Given the description of an element on the screen output the (x, y) to click on. 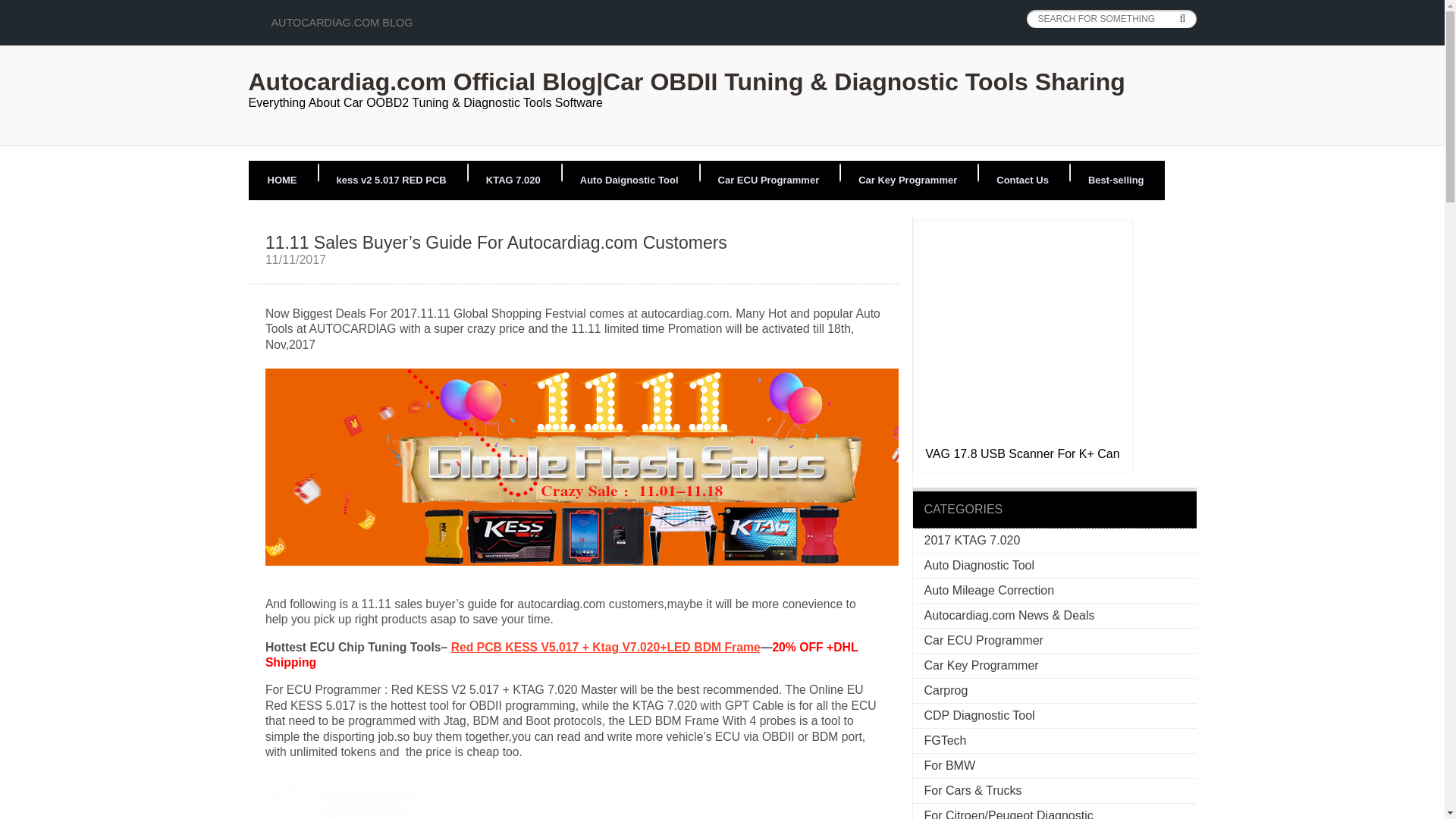
HOME (282, 179)
kess v2 5.017 RED PCB (390, 179)
Auto Daignostic Tool (629, 179)
AUTOCARDIAG.COM BLOG (341, 22)
CDP Diagnostic Tool (978, 715)
Car ECU Programmer (982, 640)
Carprog (945, 689)
Car Key Programmer (980, 665)
Car ECU Programmer (768, 179)
Contact Us (1022, 179)
